Given the description of an element on the screen output the (x, y) to click on. 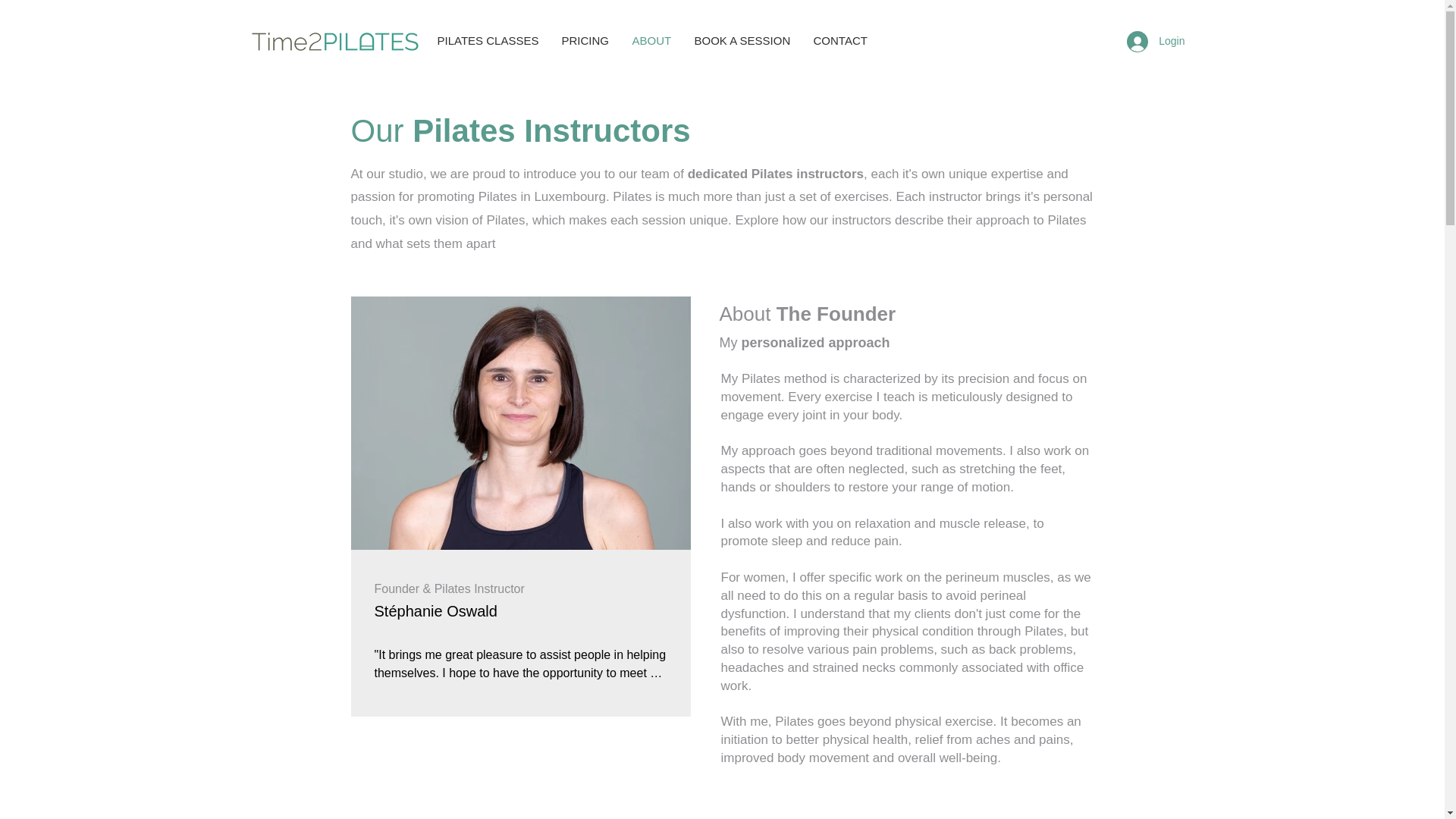
CONTACT (840, 40)
Nouveau Logo Time2Pilates 2023  (335, 40)
ABOUT (651, 40)
PRICING (585, 40)
Login (1155, 41)
PILATES CLASSES (488, 40)
BOOK A SESSION (742, 40)
